Given the description of an element on the screen output the (x, y) to click on. 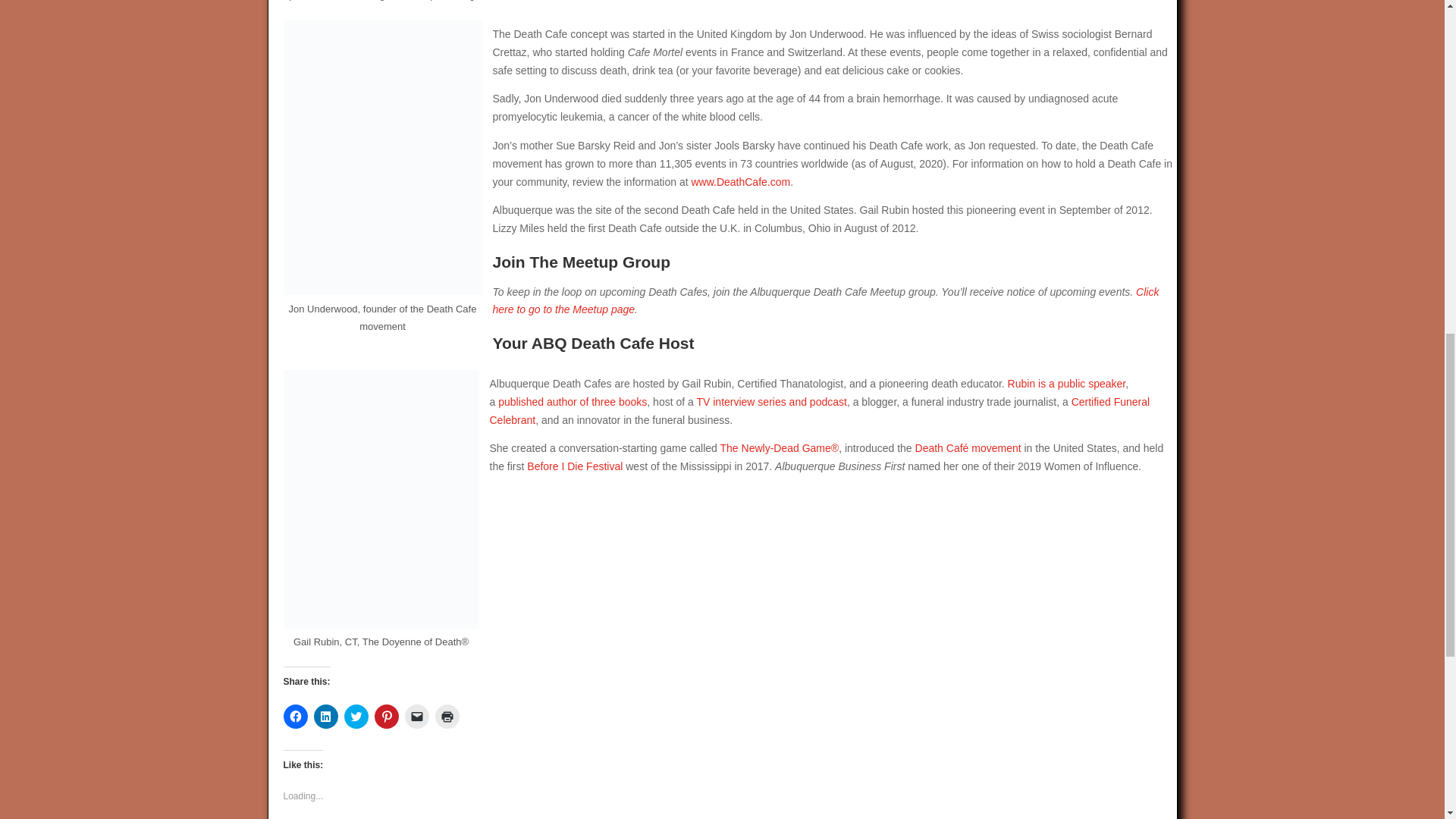
Click to share on LinkedIn (325, 716)
Click to share on Twitter (355, 716)
Click to share on Pinterest (386, 716)
Click to share on Facebook (295, 716)
Click to print (447, 716)
Click to email a link to a friend (416, 716)
